Given the description of an element on the screen output the (x, y) to click on. 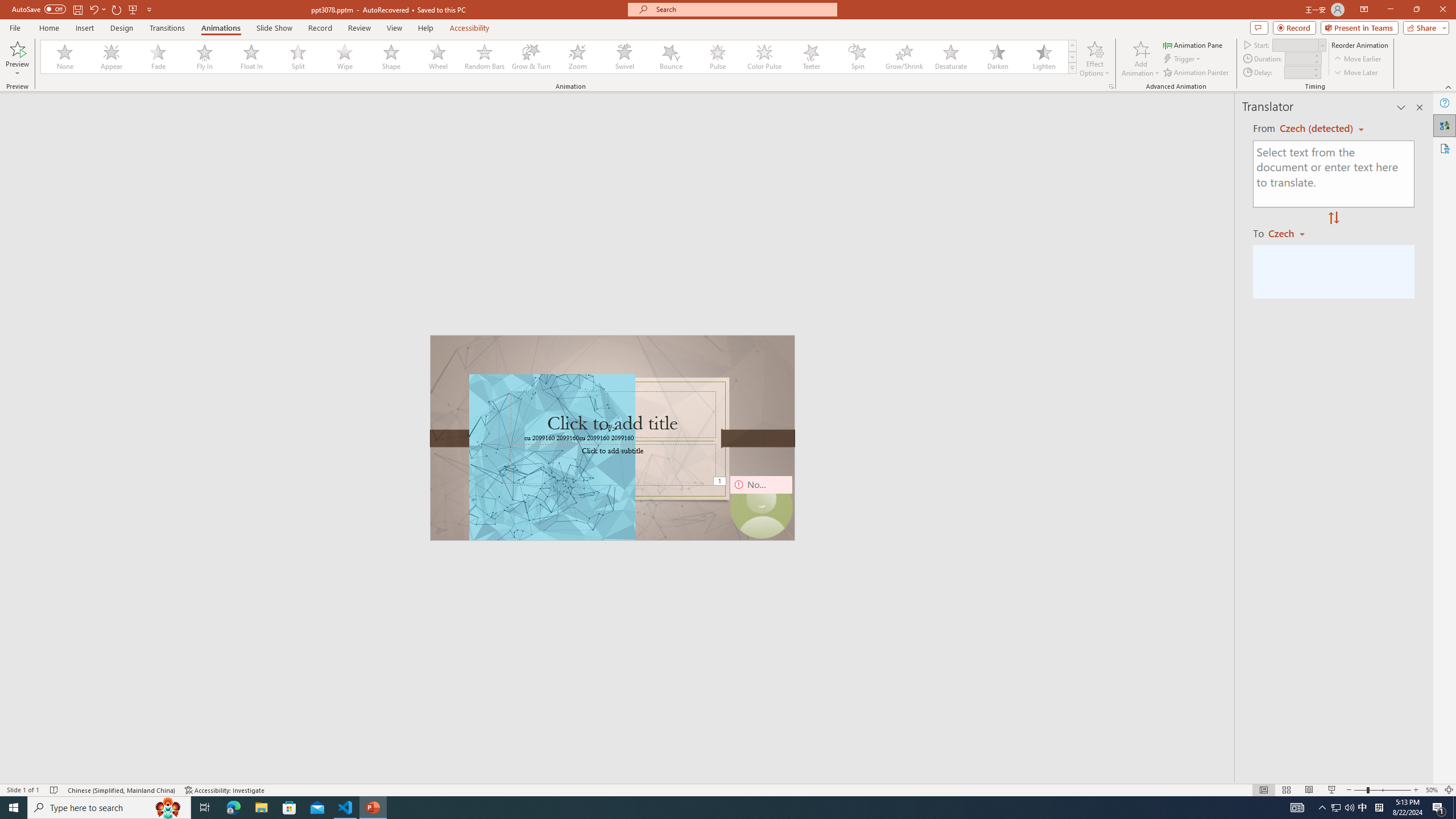
Gmail (362, 78)
